Given the description of an element on the screen output the (x, y) to click on. 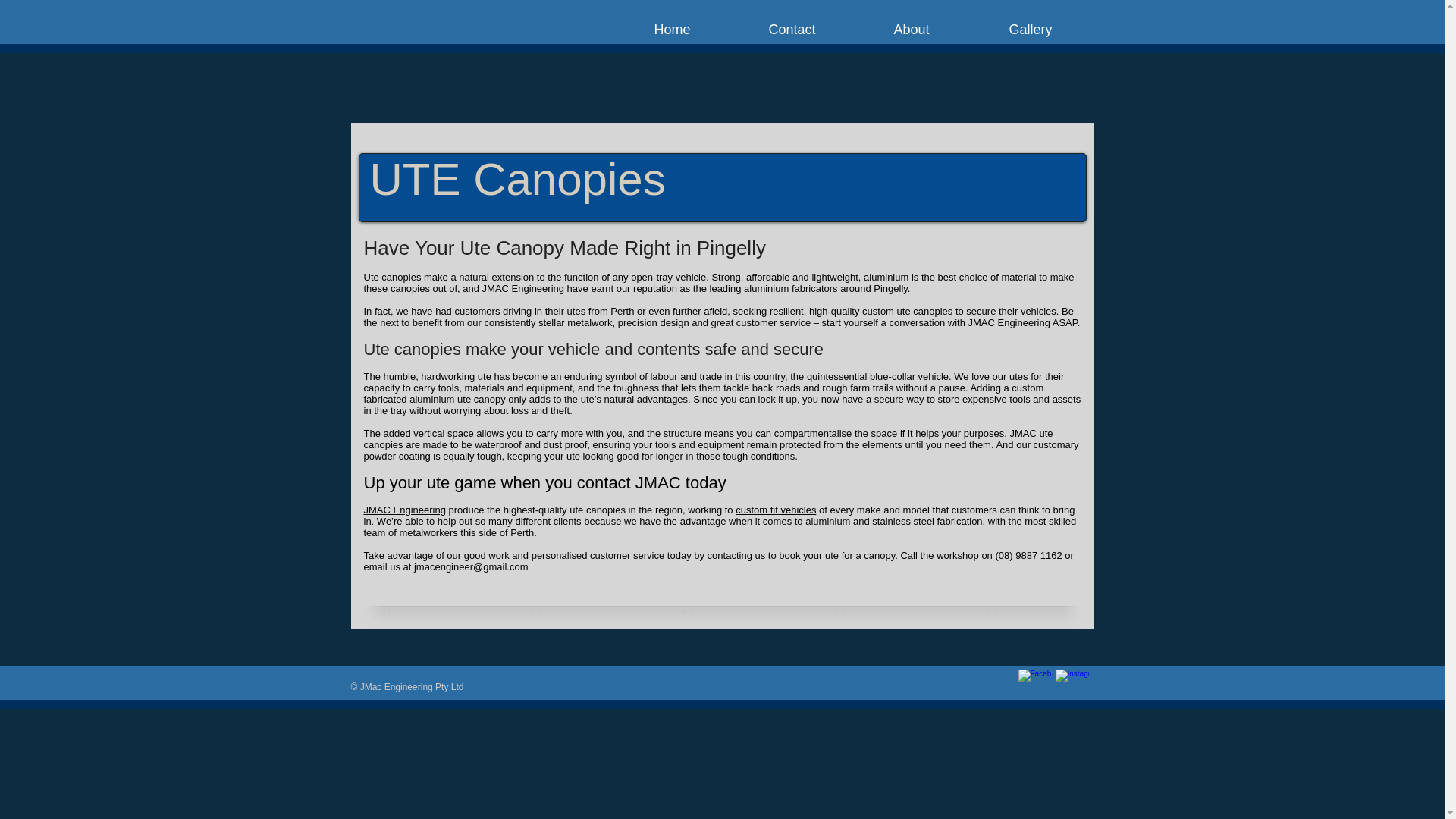
custom fit vehicles Element type: text (775, 509)
jmacengineer@gmail.com Element type: text (470, 566)
Gallery Element type: text (1029, 29)
About Element type: text (911, 29)
JMAC Engineering Element type: text (404, 509)
Home Element type: text (672, 29)
Contact Element type: text (792, 29)
